Given the description of an element on the screen output the (x, y) to click on. 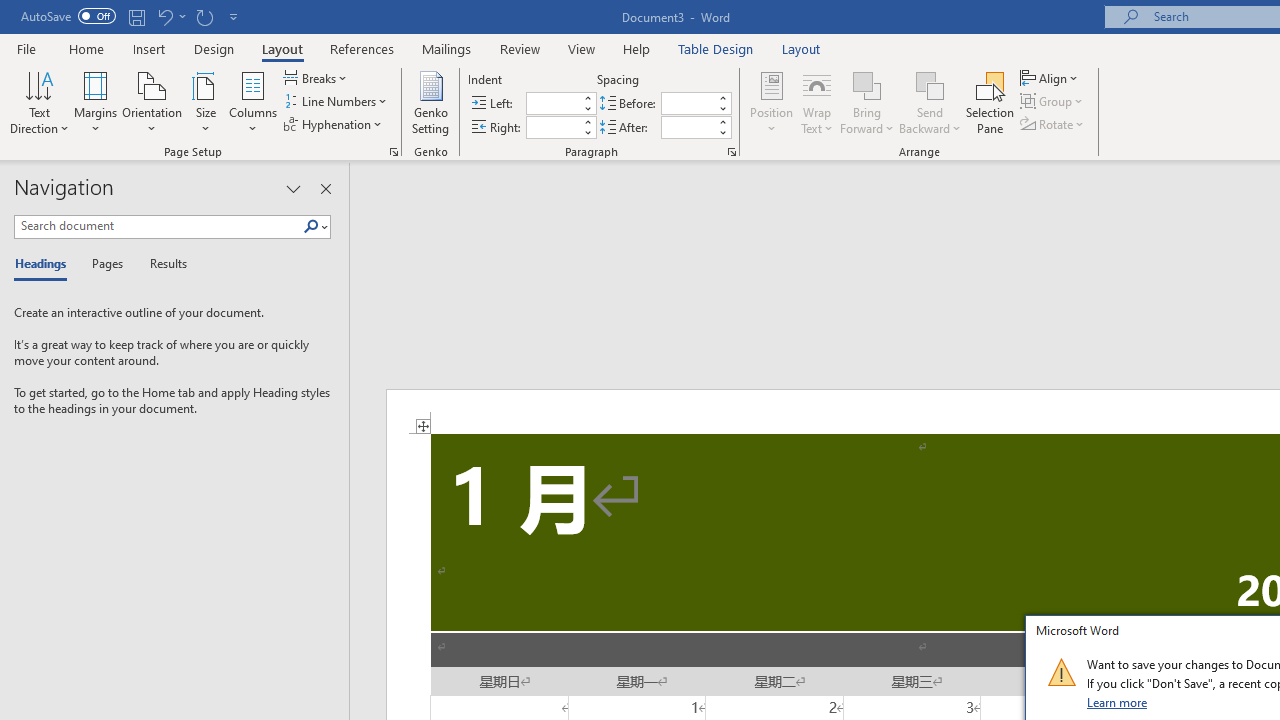
Learn more (1118, 702)
Bring Forward (867, 102)
Hyphenation (334, 124)
Page Setup... (393, 151)
Undo Insert Row Below (164, 15)
Line Numbers (337, 101)
Repeat Insert Row Below (204, 15)
Breaks (317, 78)
Less (722, 132)
Undo Insert Row Below (170, 15)
Margins (95, 102)
